Given the description of an element on the screen output the (x, y) to click on. 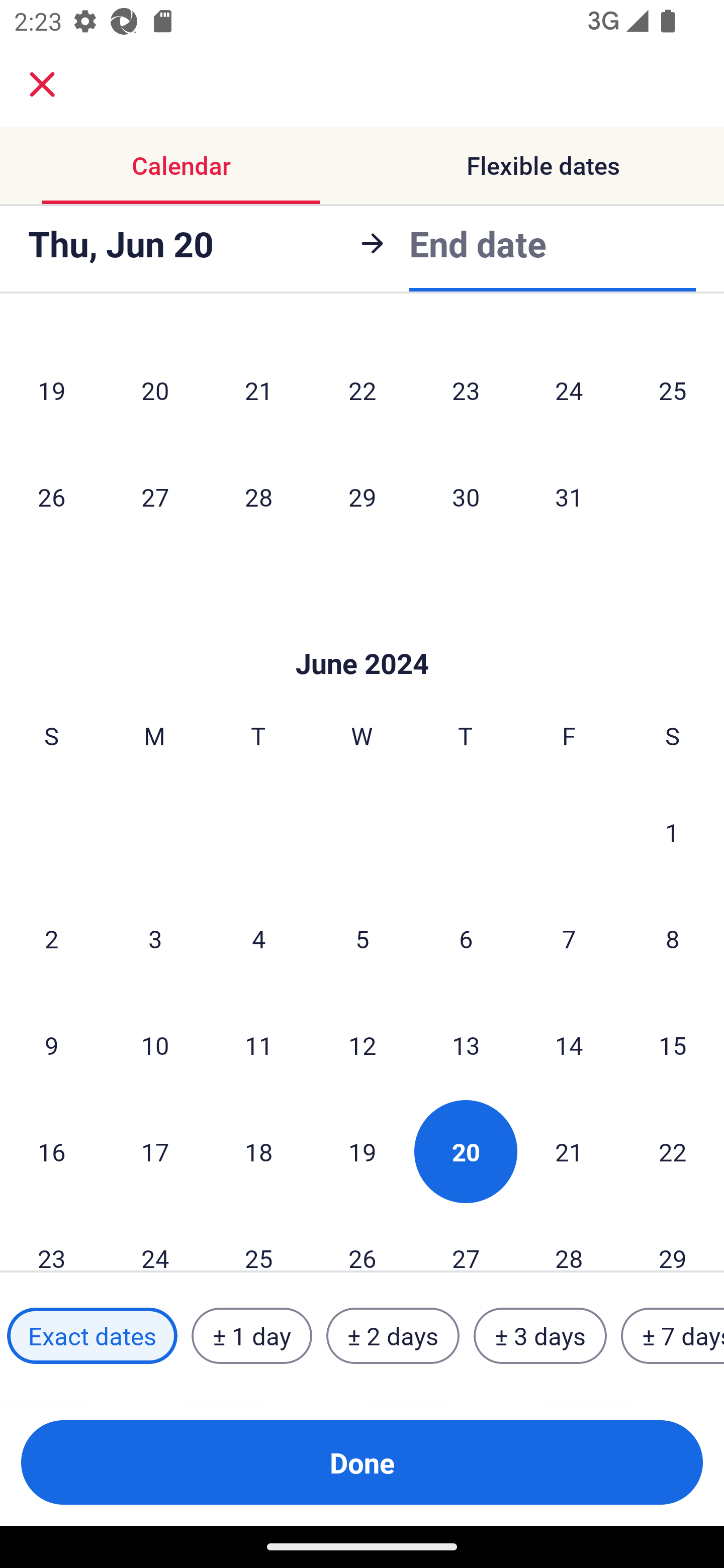
close. (42, 84)
Flexible dates (542, 164)
End date (477, 240)
19 Sunday, May 19, 2024 (51, 390)
20 Monday, May 20, 2024 (155, 390)
21 Tuesday, May 21, 2024 (258, 390)
22 Wednesday, May 22, 2024 (362, 390)
23 Thursday, May 23, 2024 (465, 390)
24 Friday, May 24, 2024 (569, 390)
25 Saturday, May 25, 2024 (672, 390)
26 Sunday, May 26, 2024 (51, 496)
27 Monday, May 27, 2024 (155, 496)
28 Tuesday, May 28, 2024 (258, 496)
29 Wednesday, May 29, 2024 (362, 496)
30 Thursday, May 30, 2024 (465, 496)
31 Friday, May 31, 2024 (569, 496)
Skip to Done (362, 633)
1 Saturday, June 1, 2024 (672, 831)
2 Sunday, June 2, 2024 (51, 938)
3 Monday, June 3, 2024 (155, 938)
4 Tuesday, June 4, 2024 (258, 938)
5 Wednesday, June 5, 2024 (362, 938)
6 Thursday, June 6, 2024 (465, 938)
7 Friday, June 7, 2024 (569, 938)
8 Saturday, June 8, 2024 (672, 938)
9 Sunday, June 9, 2024 (51, 1045)
10 Monday, June 10, 2024 (155, 1045)
11 Tuesday, June 11, 2024 (258, 1045)
12 Wednesday, June 12, 2024 (362, 1045)
13 Thursday, June 13, 2024 (465, 1045)
14 Friday, June 14, 2024 (569, 1045)
15 Saturday, June 15, 2024 (672, 1045)
16 Sunday, June 16, 2024 (51, 1151)
17 Monday, June 17, 2024 (155, 1151)
18 Tuesday, June 18, 2024 (258, 1151)
19 Wednesday, June 19, 2024 (362, 1151)
21 Friday, June 21, 2024 (569, 1151)
22 Saturday, June 22, 2024 (672, 1151)
23 Sunday, June 23, 2024 (51, 1238)
24 Monday, June 24, 2024 (155, 1238)
25 Tuesday, June 25, 2024 (258, 1238)
26 Wednesday, June 26, 2024 (362, 1238)
27 Thursday, June 27, 2024 (465, 1238)
28 Friday, June 28, 2024 (569, 1238)
29 Saturday, June 29, 2024 (672, 1238)
Exact dates (92, 1335)
± 1 day (251, 1335)
± 2 days (392, 1335)
± 3 days (539, 1335)
± 7 days (672, 1335)
Done (361, 1462)
